Given the description of an element on the screen output the (x, y) to click on. 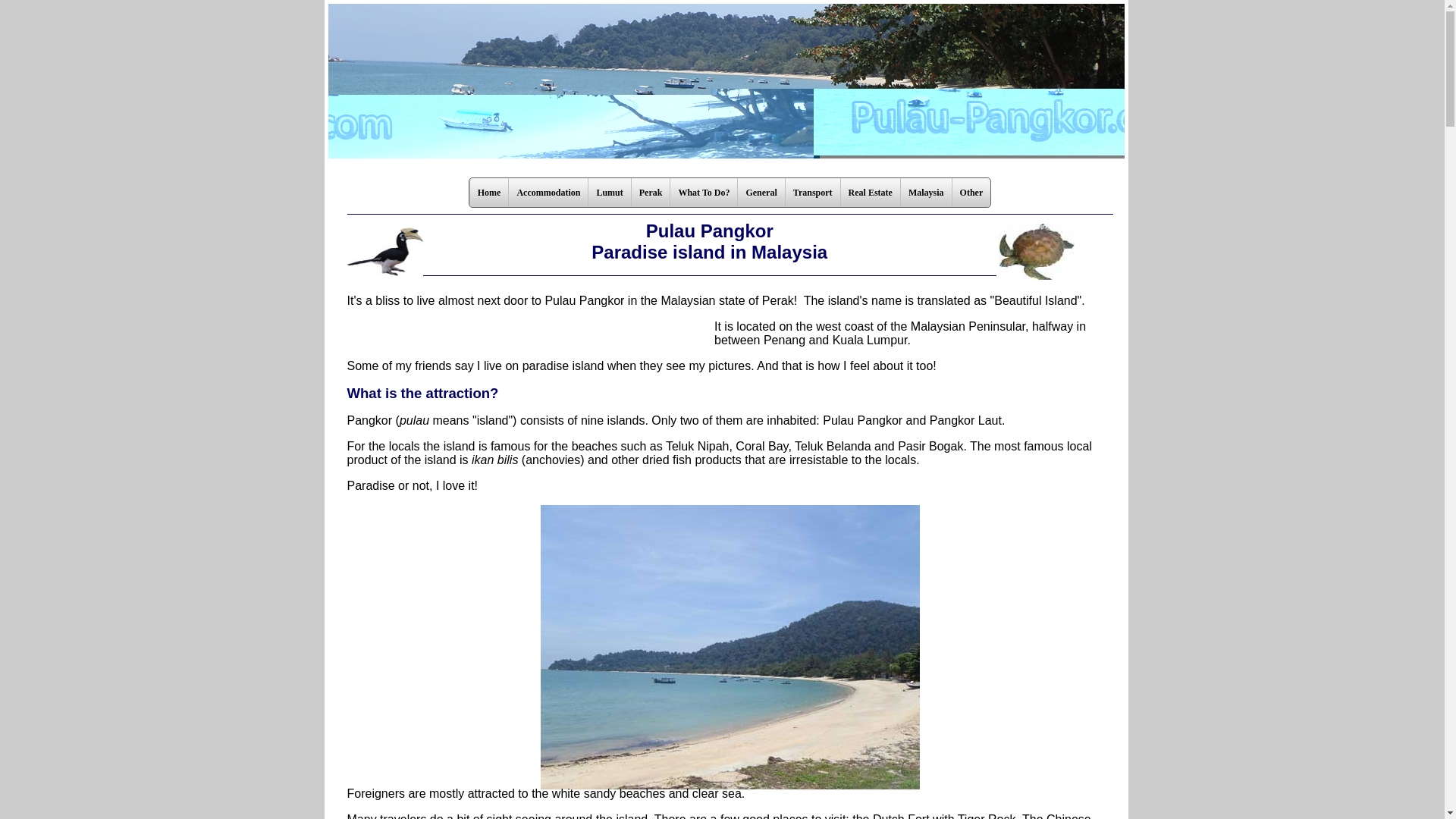
What To Do? (702, 192)
Home (488, 192)
Perak (649, 192)
View on Pasir Bogak (729, 647)
Accommodation (548, 192)
Lumut (609, 192)
